Given the description of an element on the screen output the (x, y) to click on. 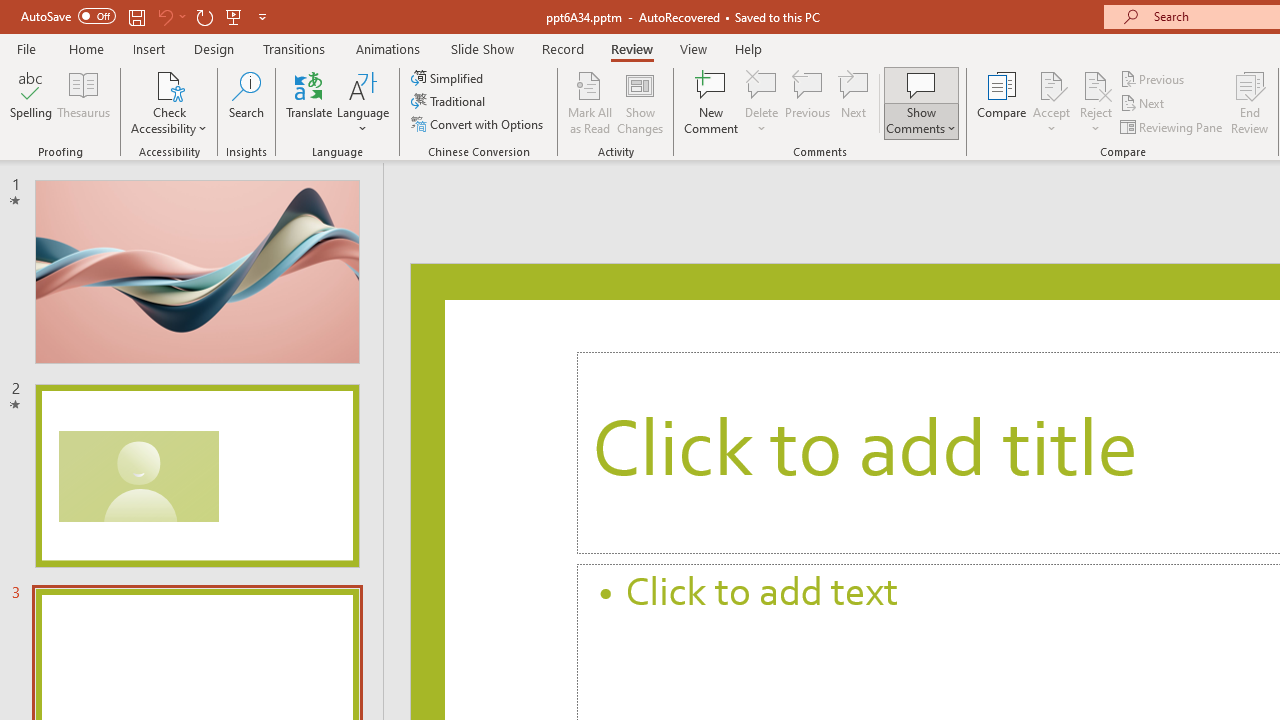
Translate (309, 102)
Reject Change (1096, 84)
Reject (1096, 102)
Spelling... (31, 102)
Reviewing Pane (1172, 126)
Compare (1002, 102)
Show Comments (921, 84)
